Given the description of an element on the screen output the (x, y) to click on. 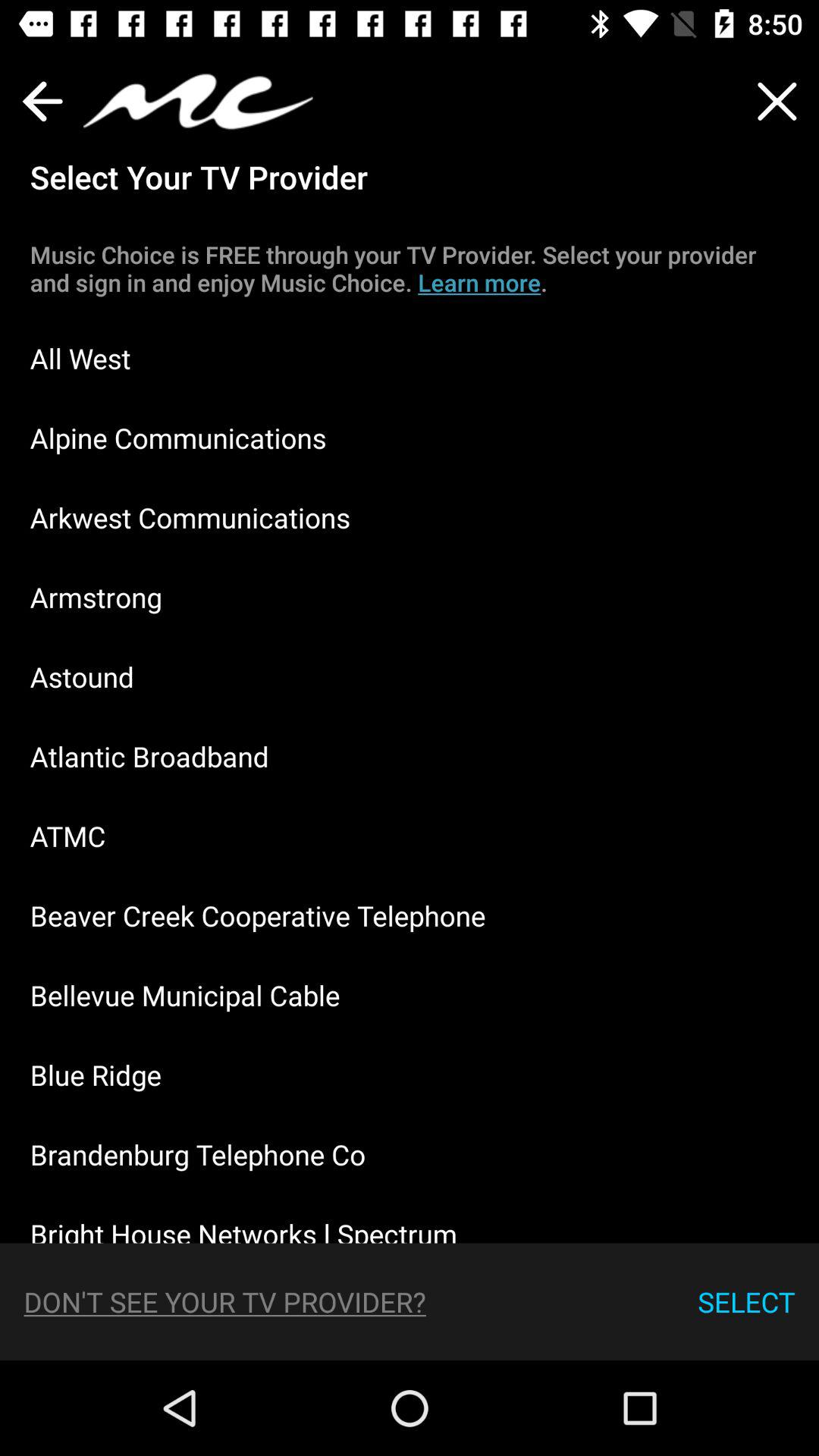
turn on the item above all west item (409, 268)
